Given the description of an element on the screen output the (x, y) to click on. 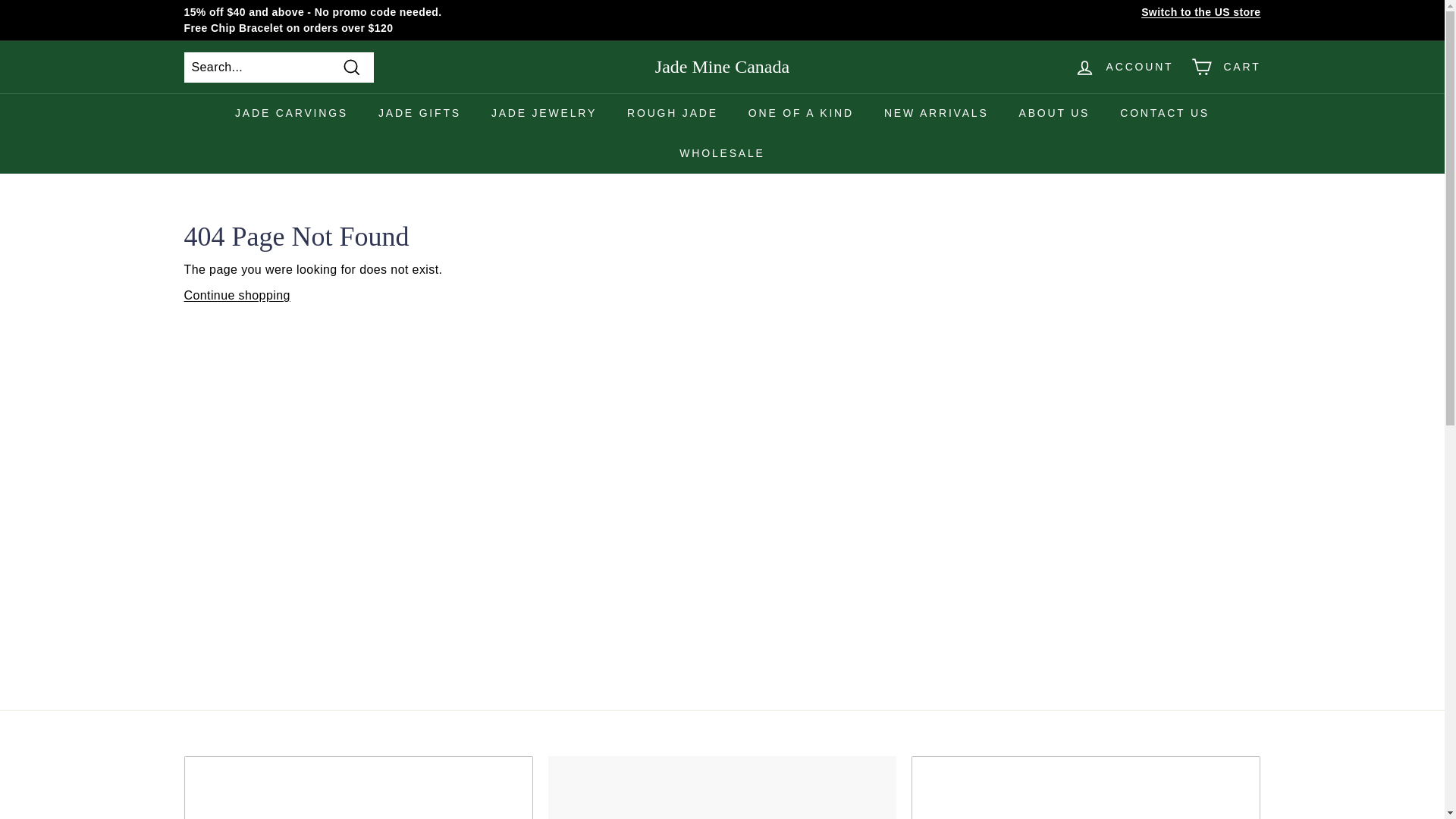
JADE GIFTS (419, 113)
JADE JEWELRY (543, 113)
Switch to the US store (1200, 12)
Jade Mine Canada (722, 66)
JADE CARVINGS (290, 113)
ACCOUNT (1123, 67)
